Given the description of an element on the screen output the (x, y) to click on. 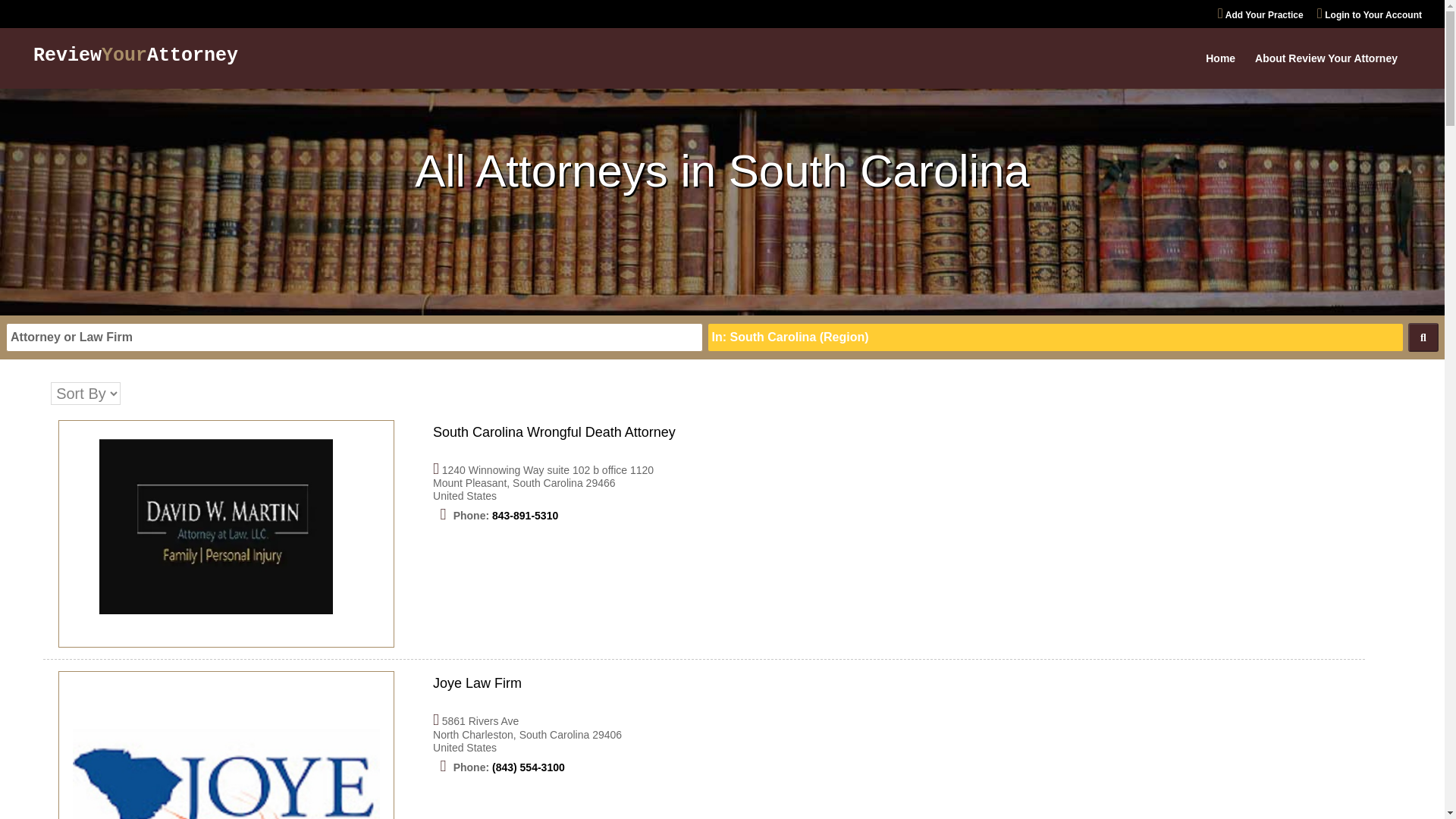
ReviewYourAttorney (135, 56)
Add Your Practice (1260, 16)
Home (1219, 70)
Joye Law Firm (476, 683)
Attorney or Law Firm (354, 337)
About Review Your Attorney (1326, 70)
Attorney or Law Firm (354, 337)
South Carolina Wrongful Death Attorney (553, 432)
South Carolina Wrongful Death Attorney (226, 533)
Login to Your Account (1369, 16)
Joye Law Firm (226, 752)
South Carolina Wrongful Death Attorney (553, 432)
843-891-5310 (524, 515)
Joye Law Firm (476, 683)
